Given the description of an element on the screen output the (x, y) to click on. 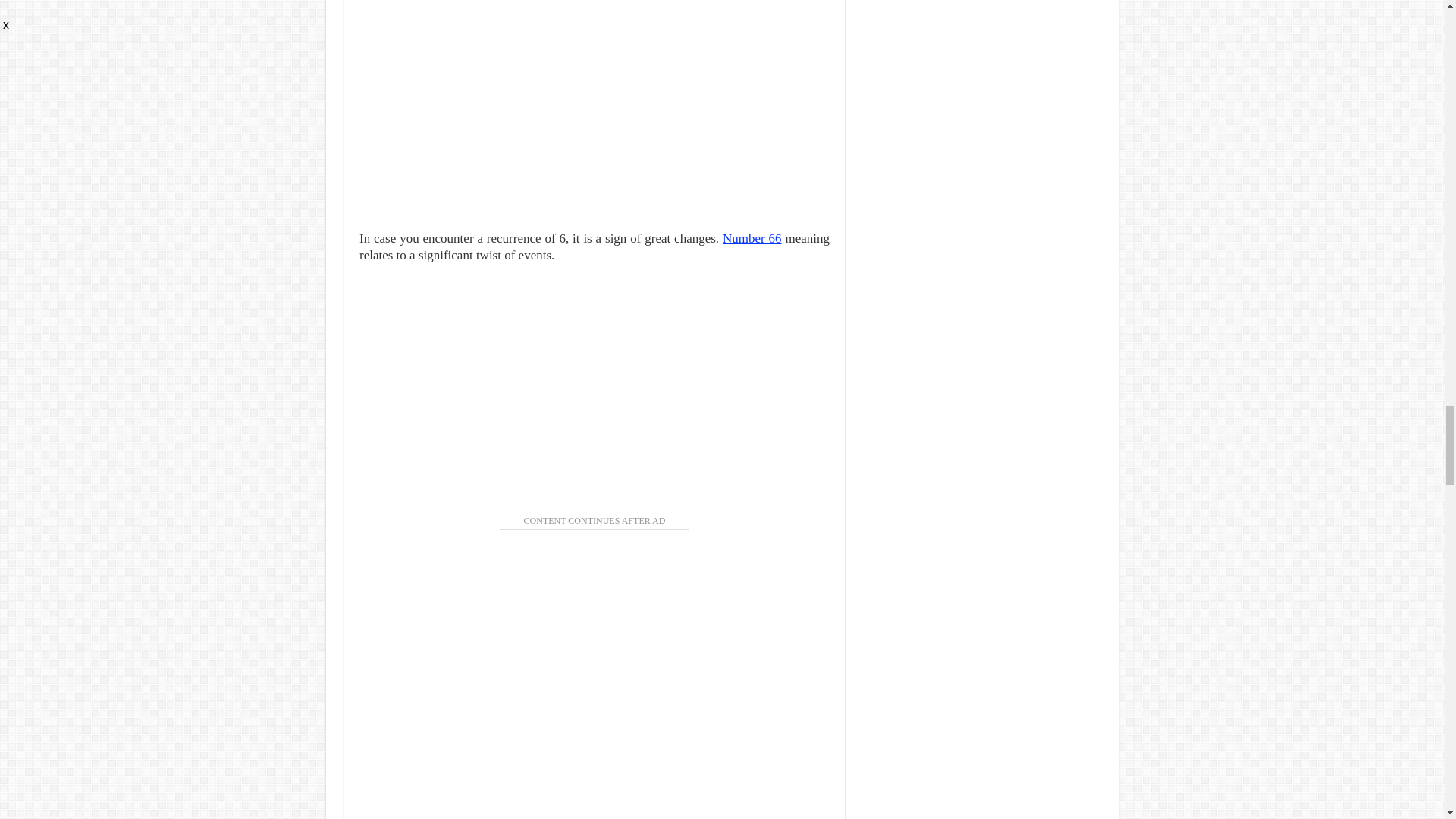
Number 66 (751, 237)
